Given the description of an element on the screen output the (x, y) to click on. 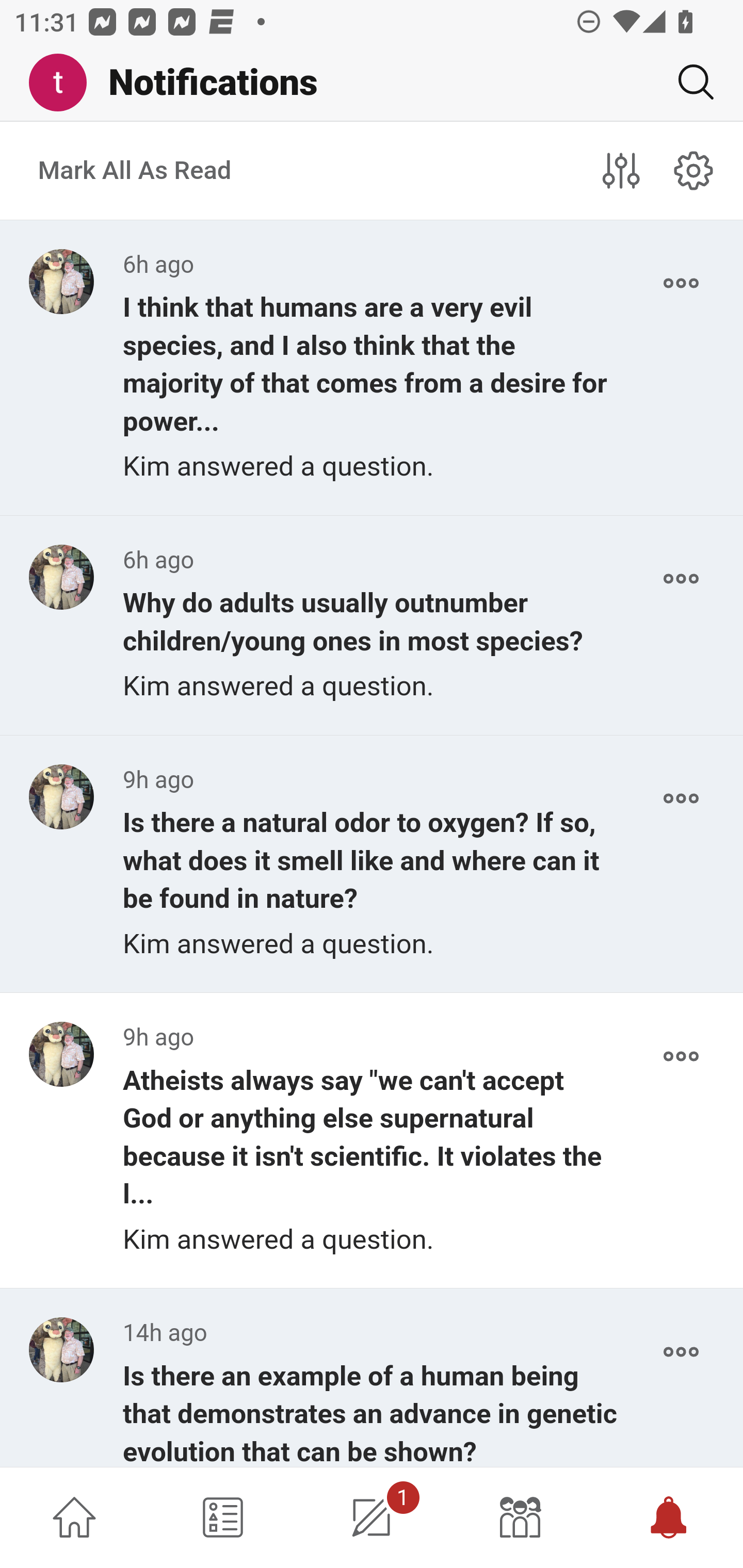
Me (64, 83)
Search (688, 82)
Mark All As Read (135, 171)
notifications# (693, 170)
More (681, 282)
More (681, 579)
More (681, 798)
More (681, 1055)
More (681, 1352)
1 (371, 1517)
